Given the description of an element on the screen output the (x, y) to click on. 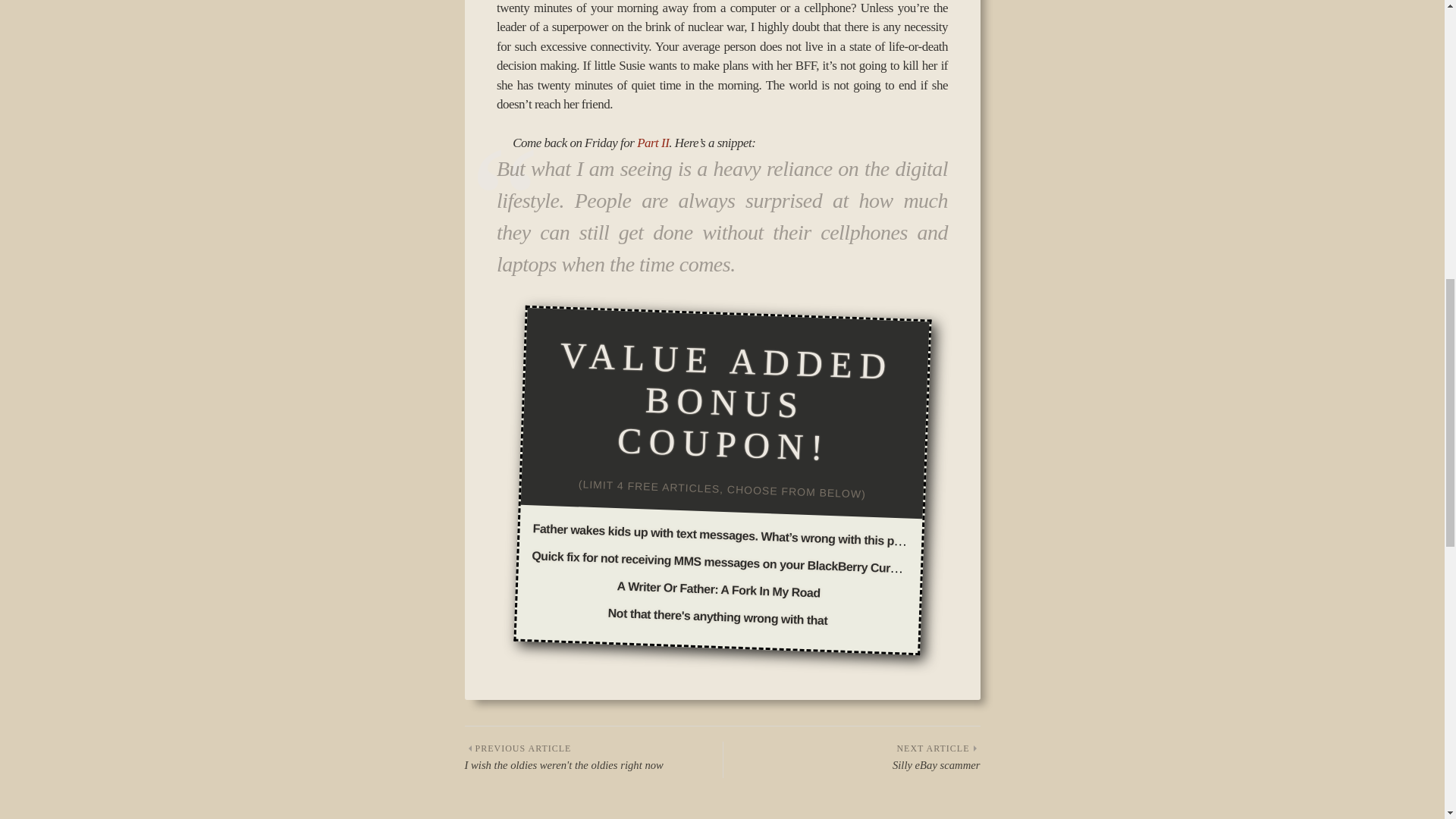
A Writer Or Father: A Fork In My Road (717, 585)
Not that there's anything wrong with that (717, 612)
Part II (652, 142)
